Given the description of an element on the screen output the (x, y) to click on. 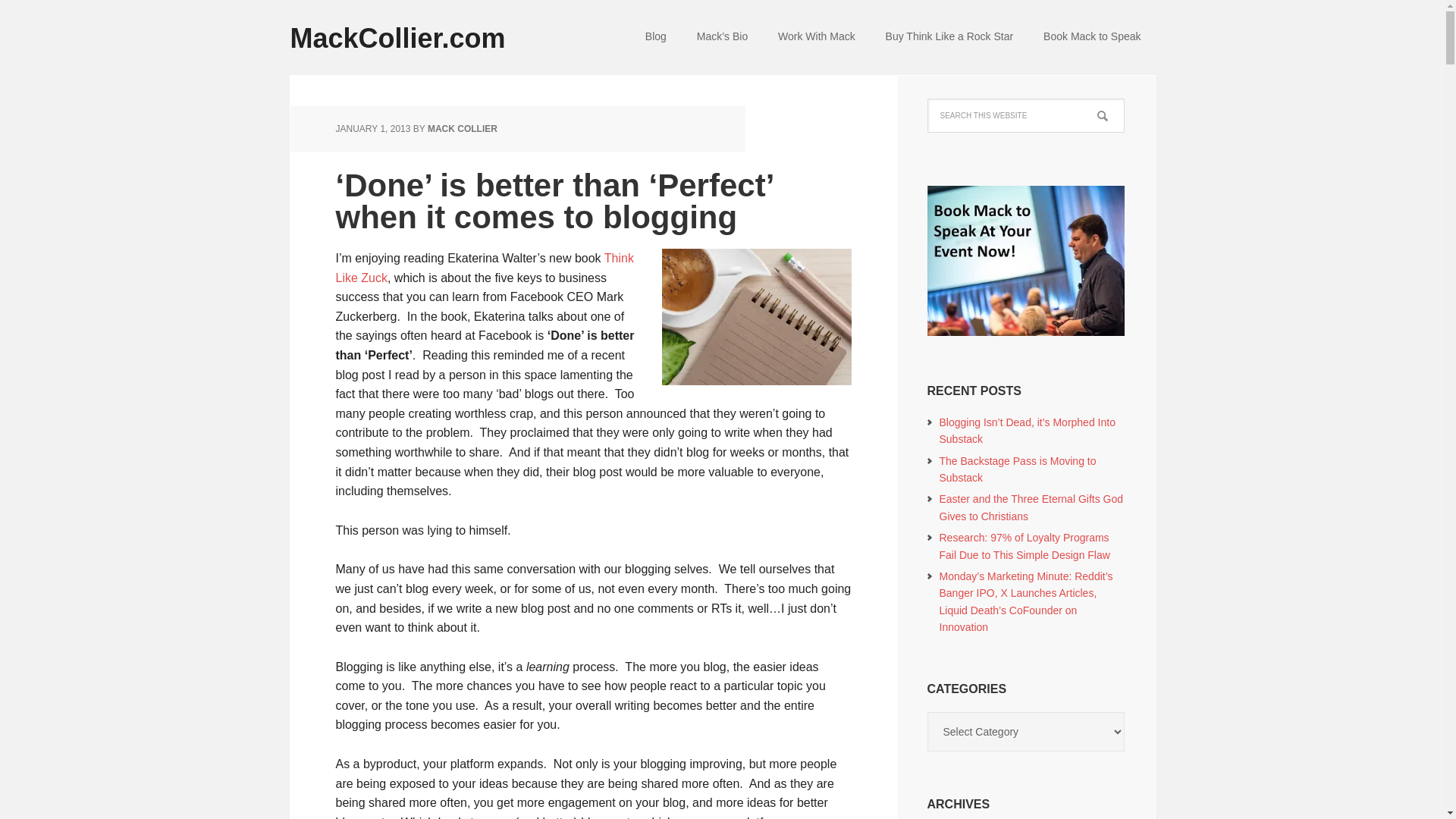
CoffeeCupPad (755, 316)
MACK COLLIER (462, 128)
MackCollier.com (410, 27)
Buy Think Like a Rock Star (949, 37)
Work With Mack (816, 37)
Book Mack to Speak (1091, 37)
Think Like Zuck (483, 267)
